Given the description of an element on the screen output the (x, y) to click on. 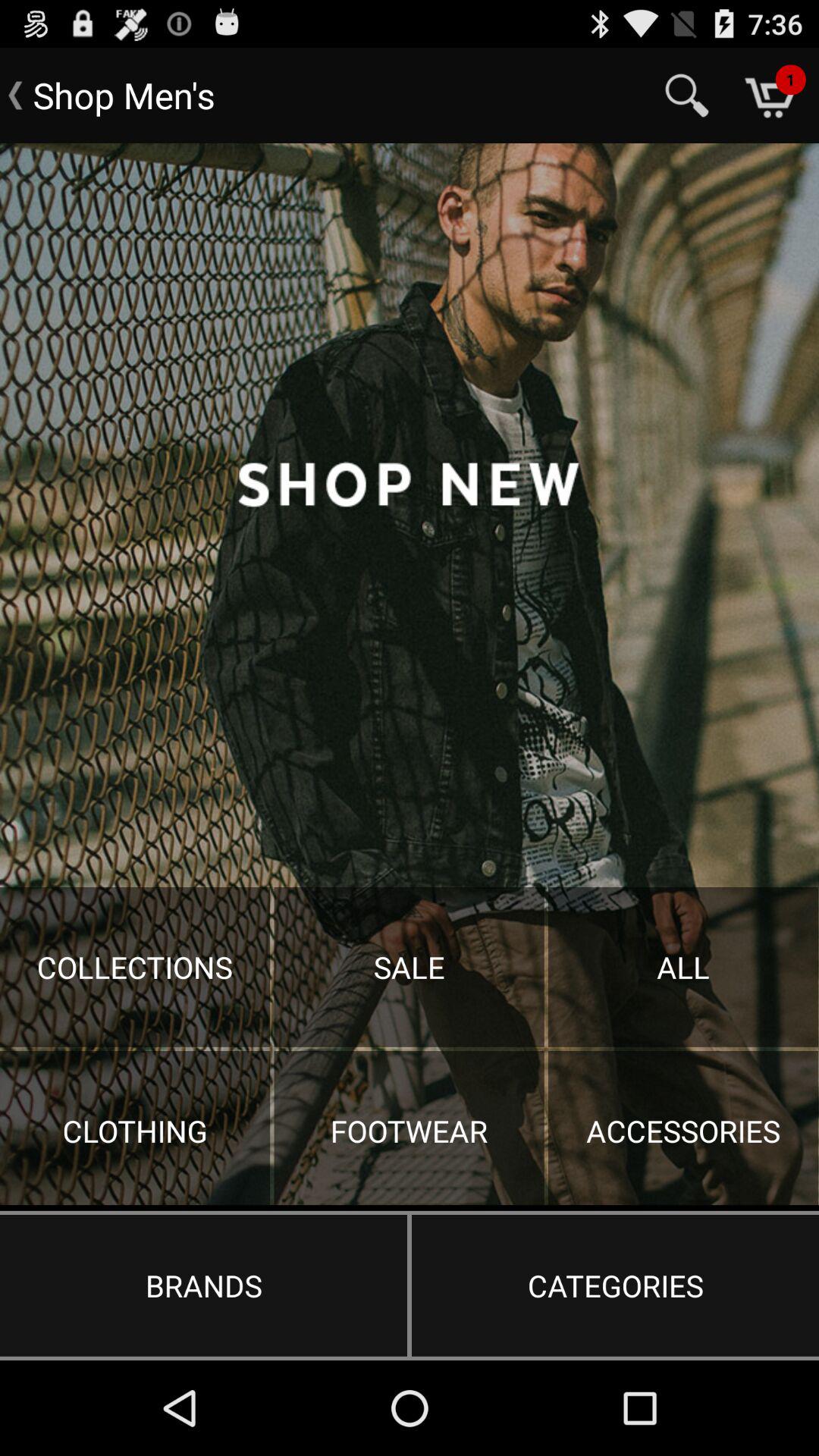
click the icon to the right of brands button (615, 1285)
